Given the description of an element on the screen output the (x, y) to click on. 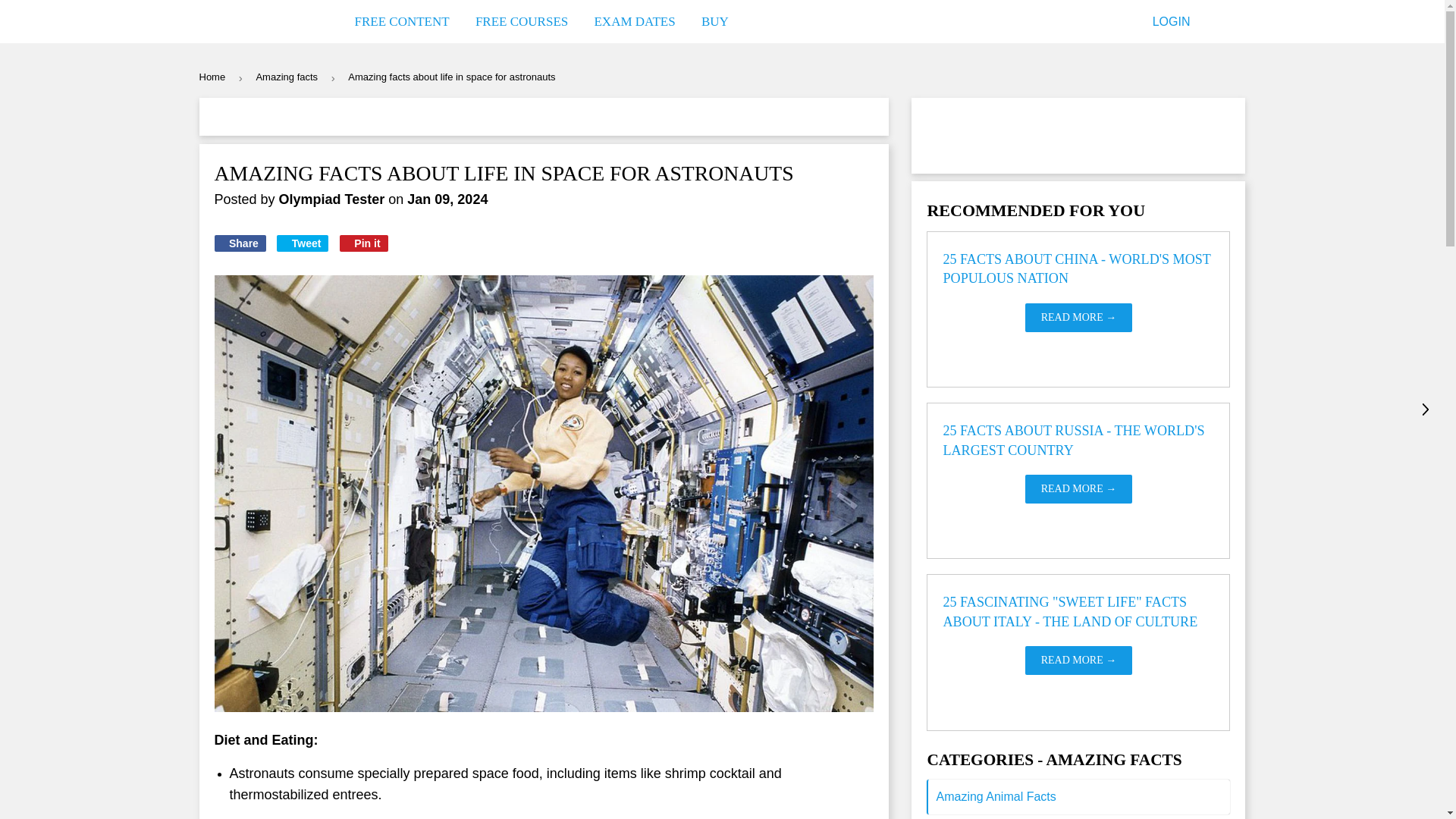
Share on Facebook (239, 243)
Pin on Pinterest (363, 243)
Tweet on Twitter (302, 243)
